Given the description of an element on the screen output the (x, y) to click on. 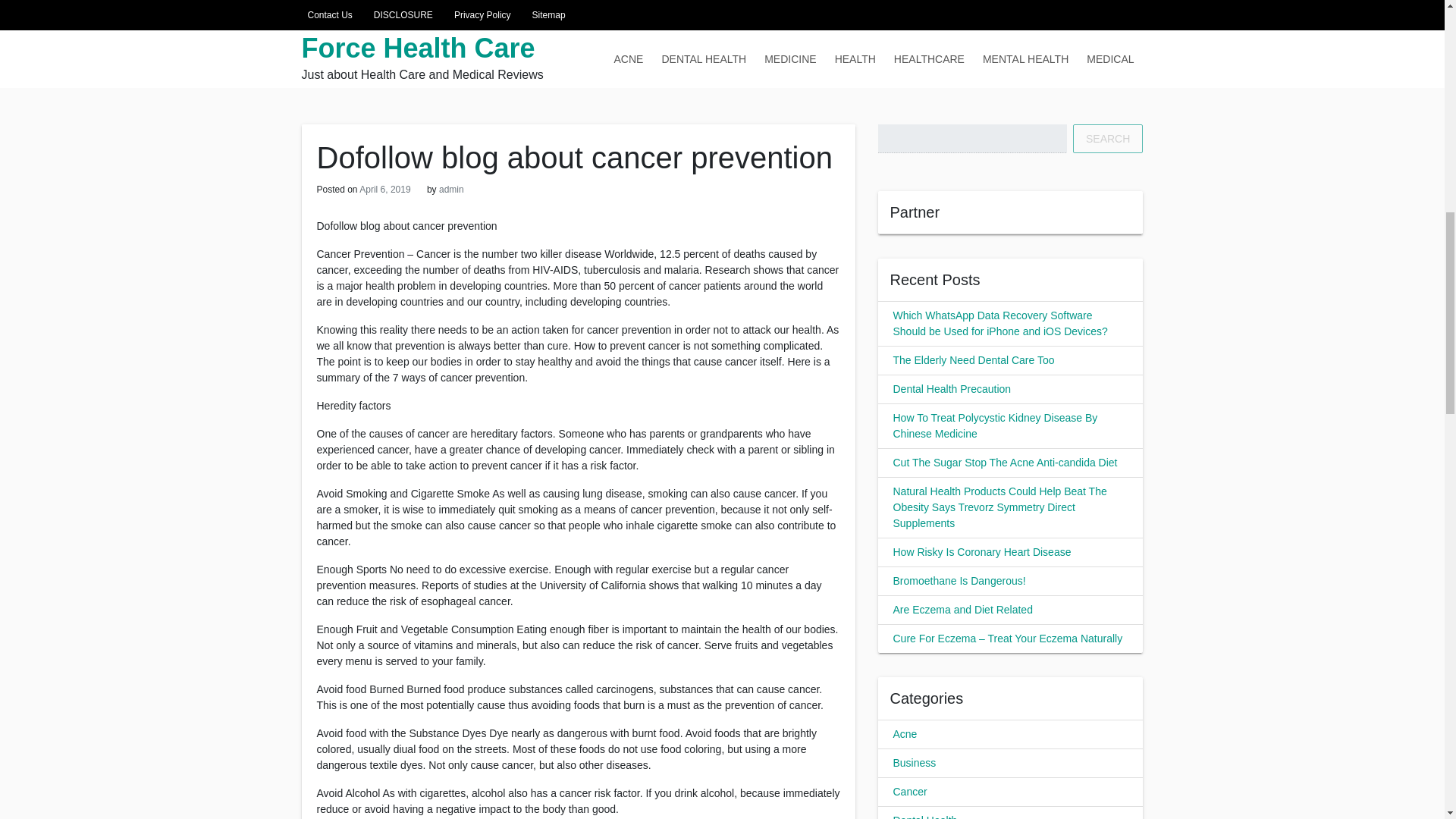
Acne (905, 734)
HEALTHCARE (929, 58)
DENTAL HEALTH (703, 58)
April 6, 2019 (384, 189)
Force Health Care (418, 47)
Privacy Policy (479, 15)
MEDICAL (1109, 58)
Dental Health Precaution (952, 388)
Business (914, 762)
